Given the description of an element on the screen output the (x, y) to click on. 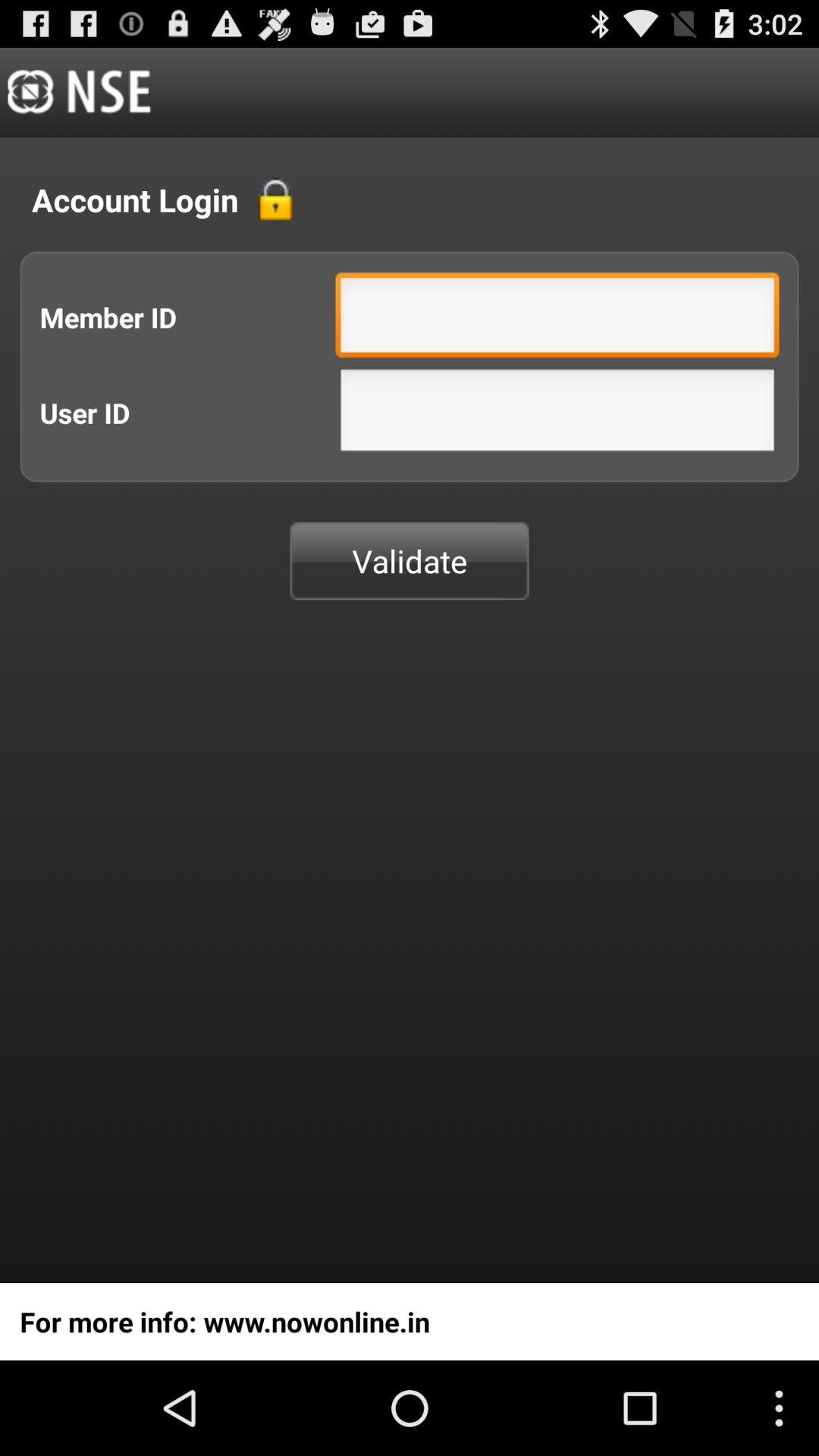
enter user id (557, 414)
